Given the description of an element on the screen output the (x, y) to click on. 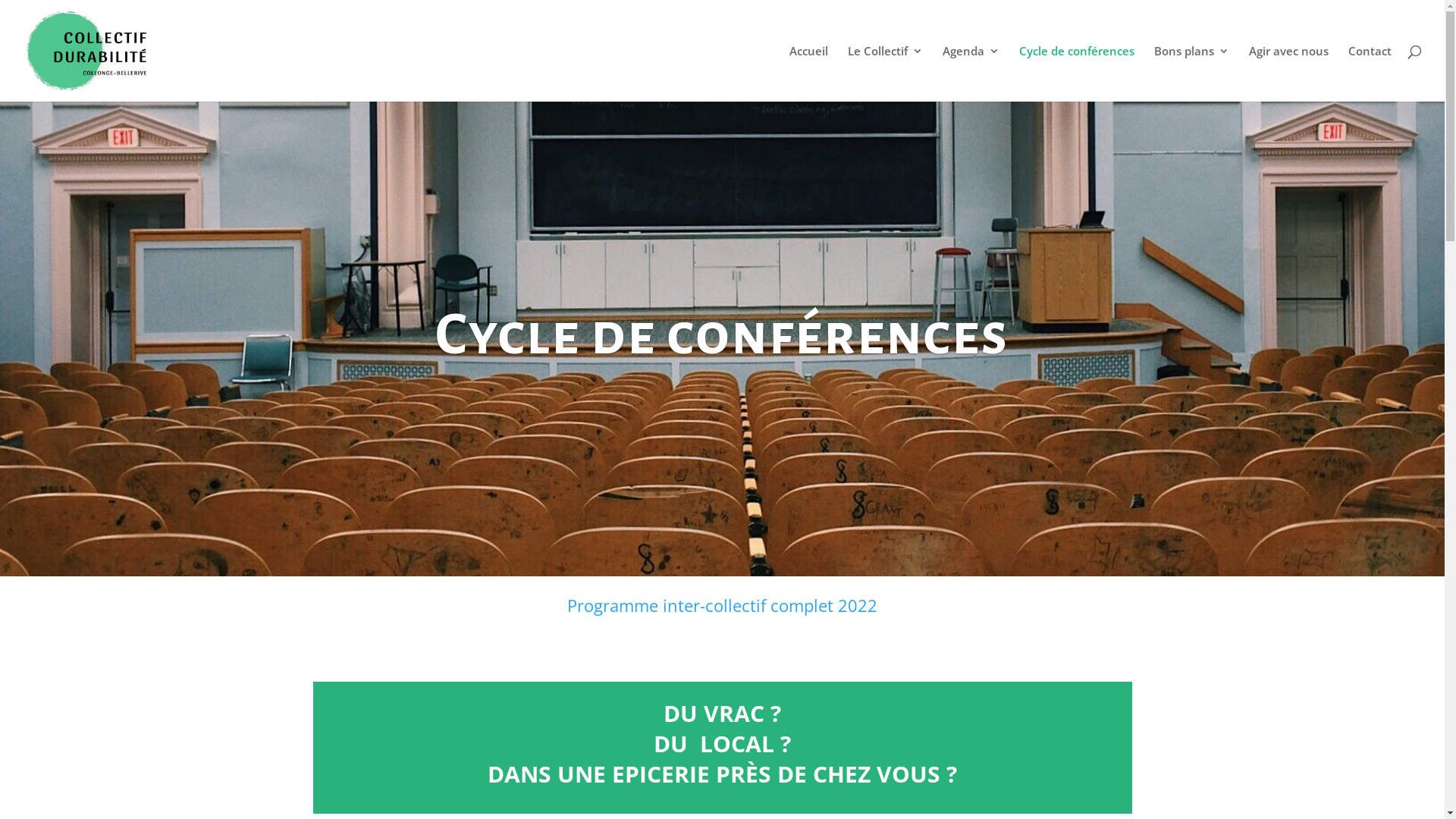
Accueil Element type: text (808, 73)
Le Collectif Element type: text (884, 73)
Programme inter-collectif complet 2022 Element type: text (722, 604)
Agir avec nous Element type: text (1288, 73)
Bons plans Element type: text (1191, 73)
Contact Element type: text (1369, 73)
Agenda Element type: text (970, 73)
